Given the description of an element on the screen output the (x, y) to click on. 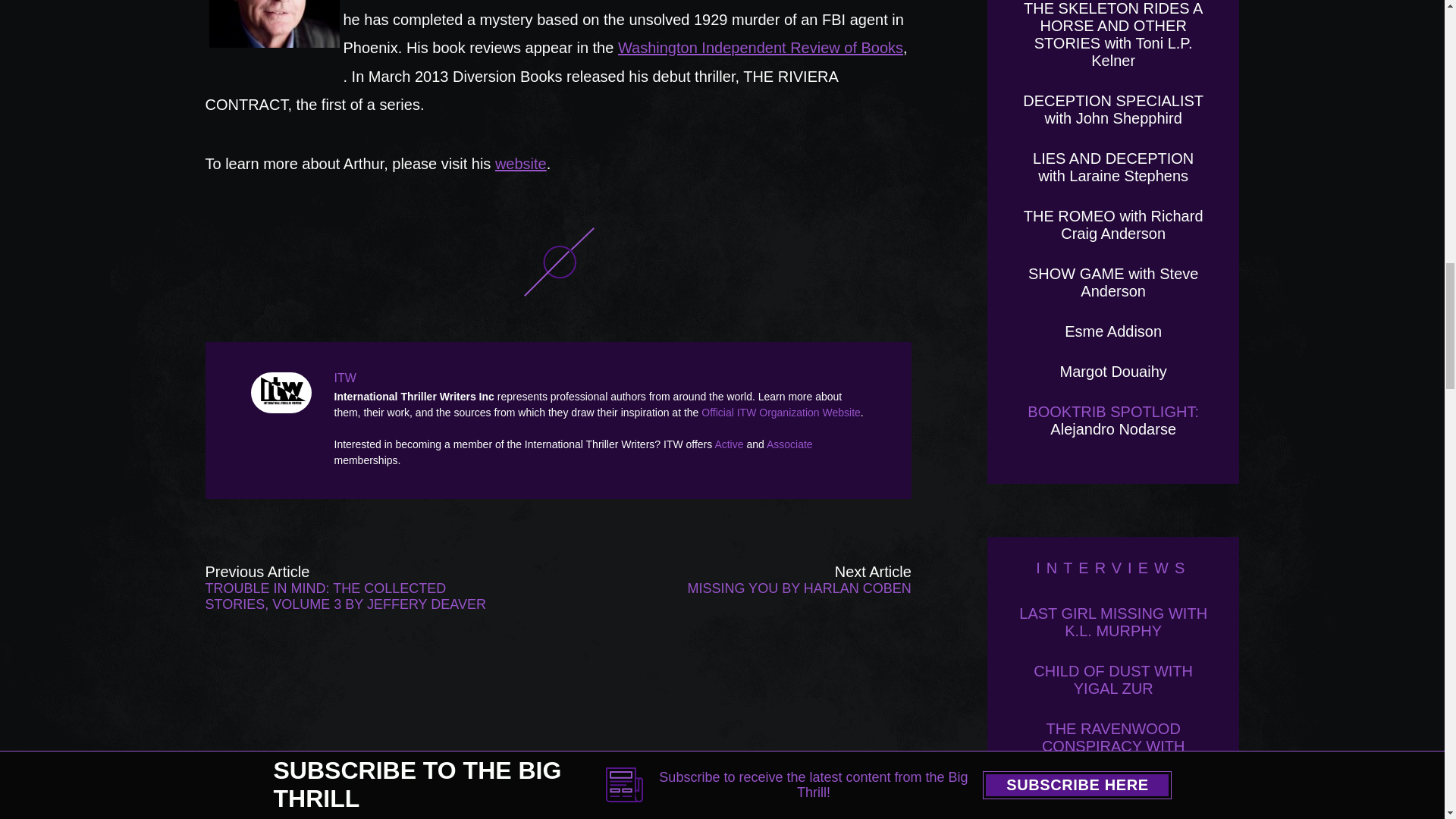
ITW (284, 392)
Missing You by Harlan Coben (769, 587)
